Given the description of an element on the screen output the (x, y) to click on. 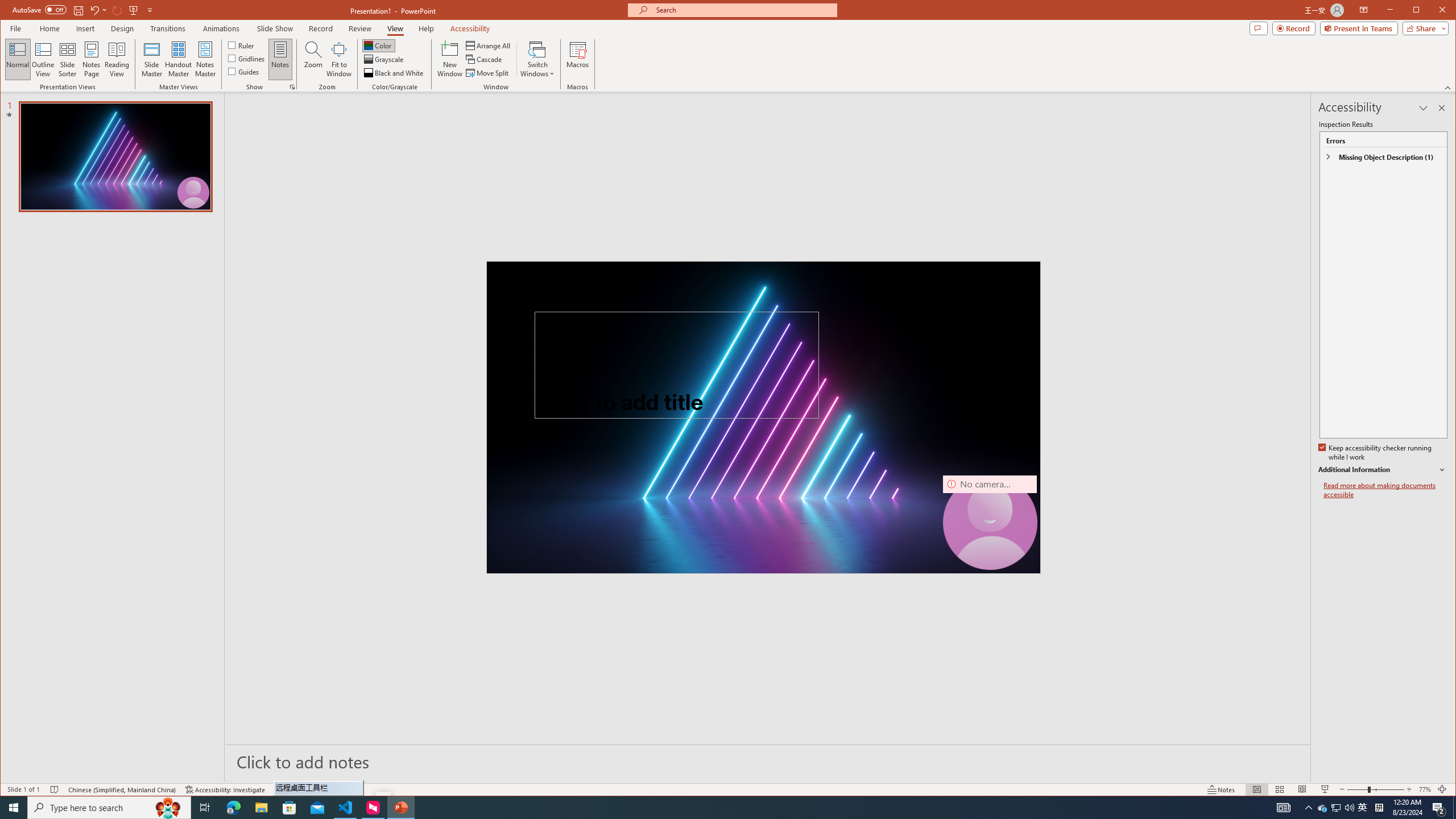
Read more about making documents accessible (1385, 489)
Fit to Window (338, 59)
Ruler (241, 44)
Notes (279, 59)
Zoom 77% (1424, 789)
Gridlines (246, 57)
